Given the description of an element on the screen output the (x, y) to click on. 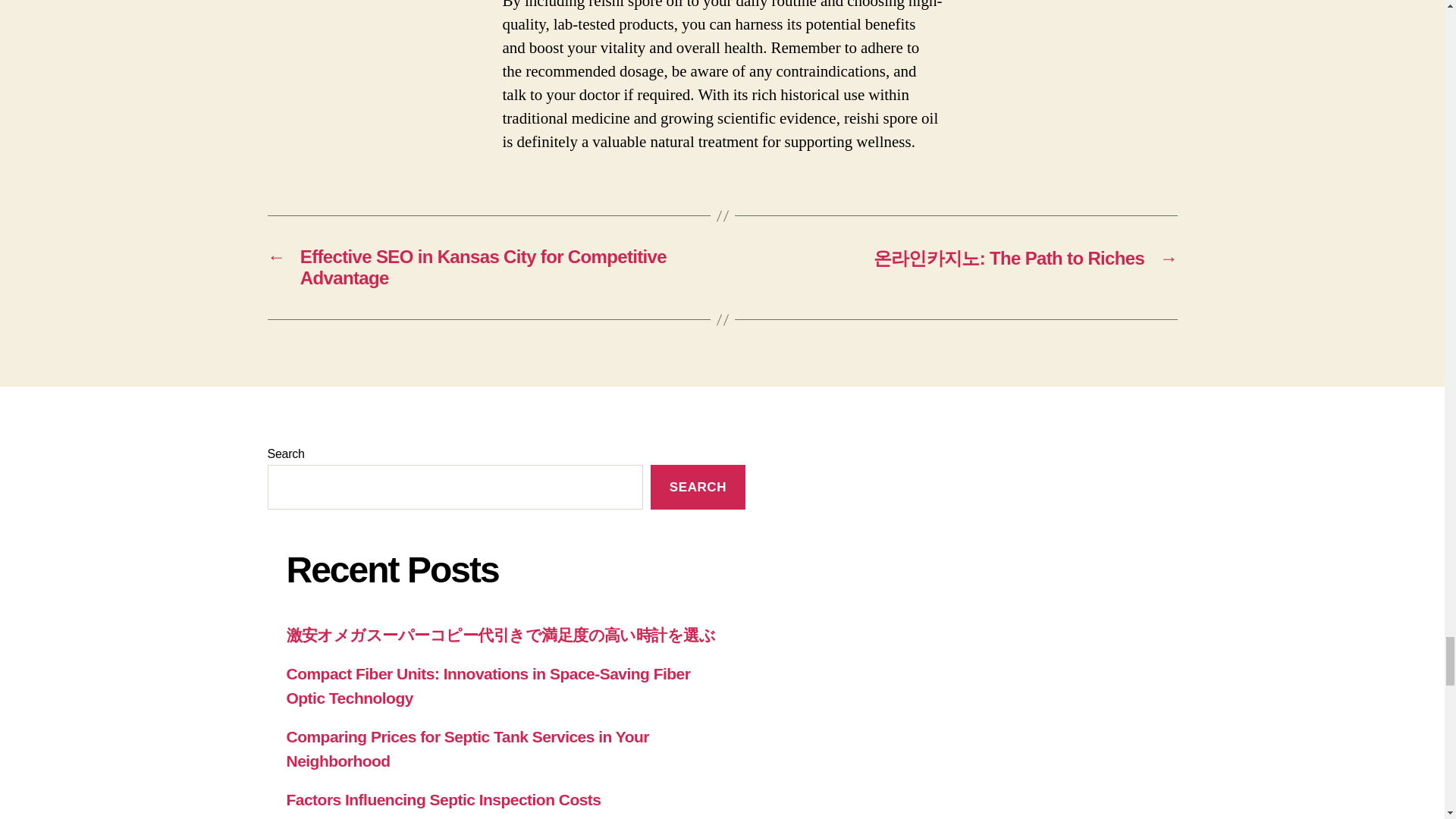
Factors Influencing Septic Inspection Costs (443, 799)
SEARCH (697, 487)
